Given the description of an element on the screen output the (x, y) to click on. 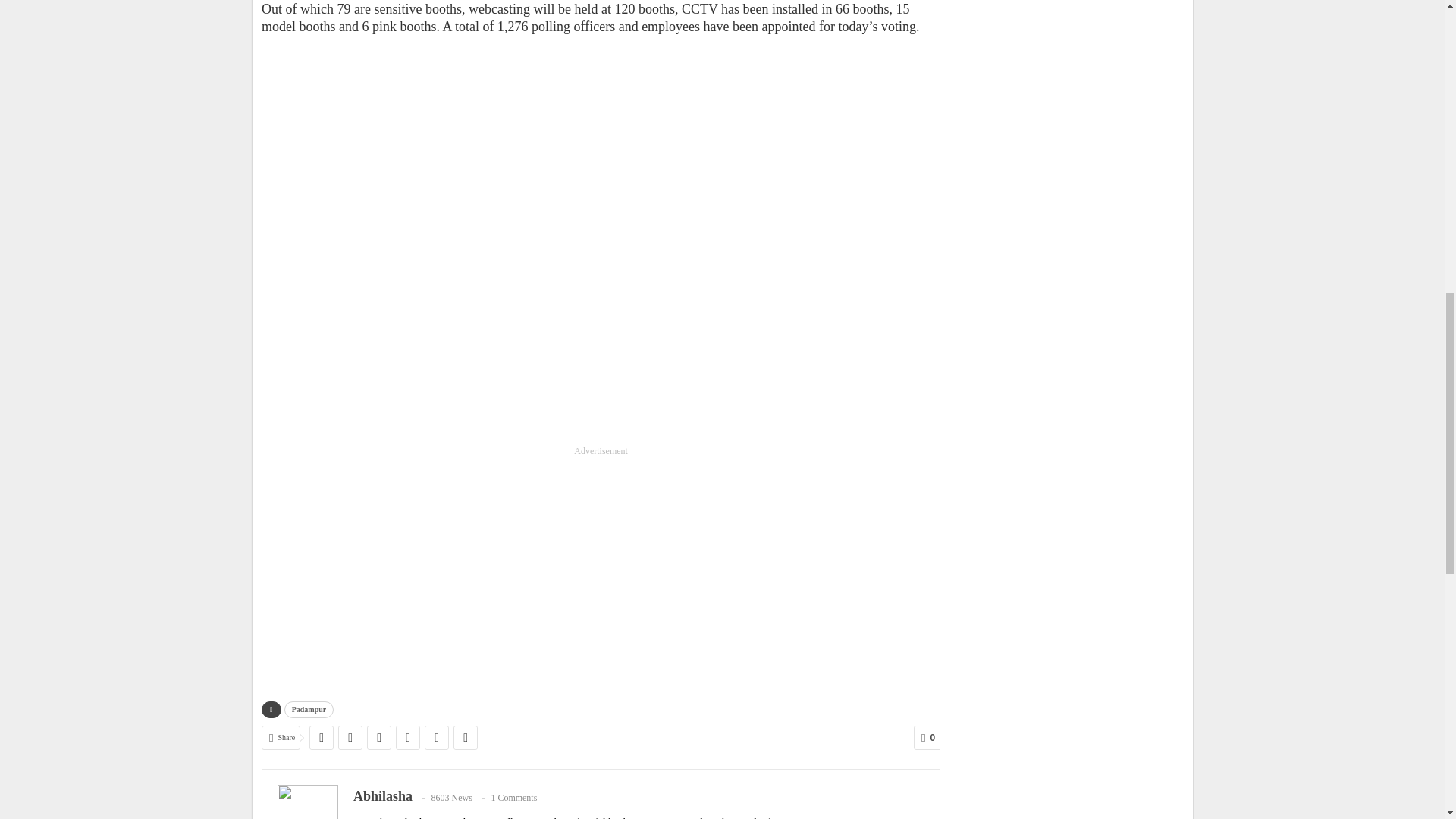
Padampur (308, 709)
0 (927, 737)
Abhilasha (382, 795)
